Given the description of an element on the screen output the (x, y) to click on. 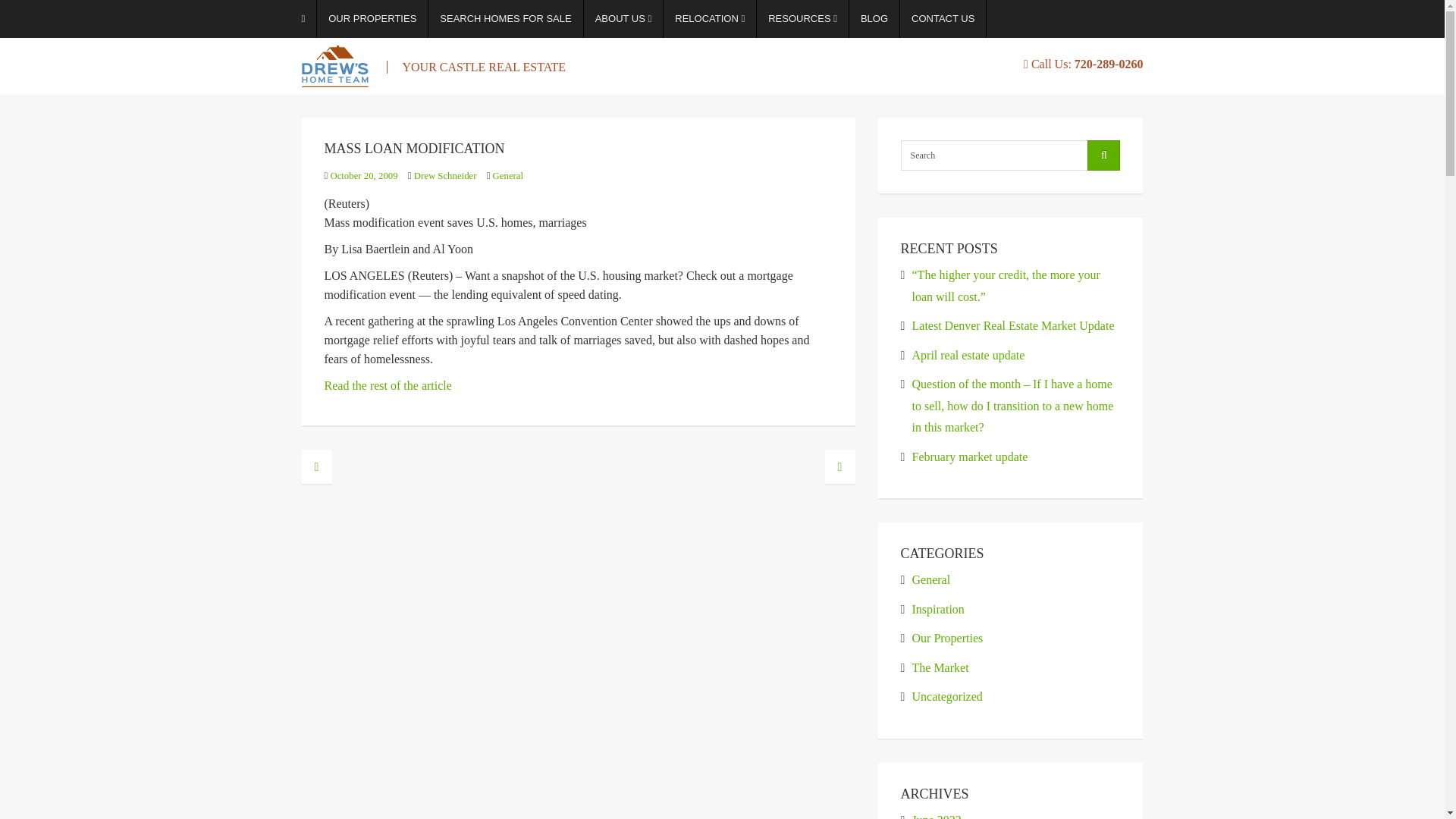
ABOUT US (623, 18)
Search (1006, 155)
Search (1006, 155)
SEARCH HOMES FOR SALE (505, 18)
OUR PROPERTIES (372, 18)
